Given the description of an element on the screen output the (x, y) to click on. 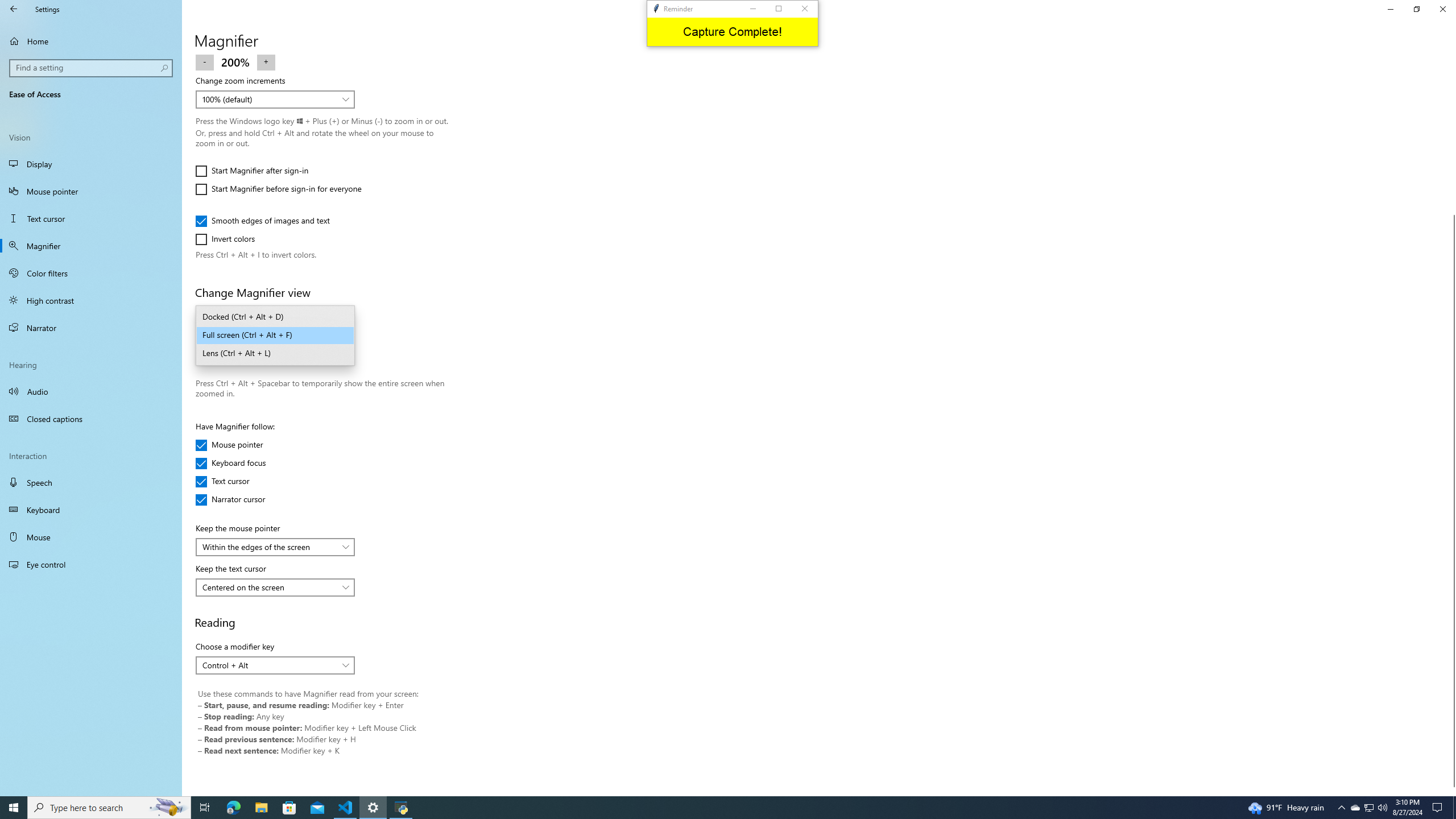
Centered on the screen (269, 586)
Lens (Ctrl + Alt + L) (274, 353)
Narrator (91, 327)
Choose a modifier key (275, 665)
Change zoom increments (275, 99)
Keep the mouse pointer (275, 547)
Vertical Small Increase (1451, 791)
Text cursor (91, 217)
Back (13, 9)
